Given the description of an element on the screen output the (x, y) to click on. 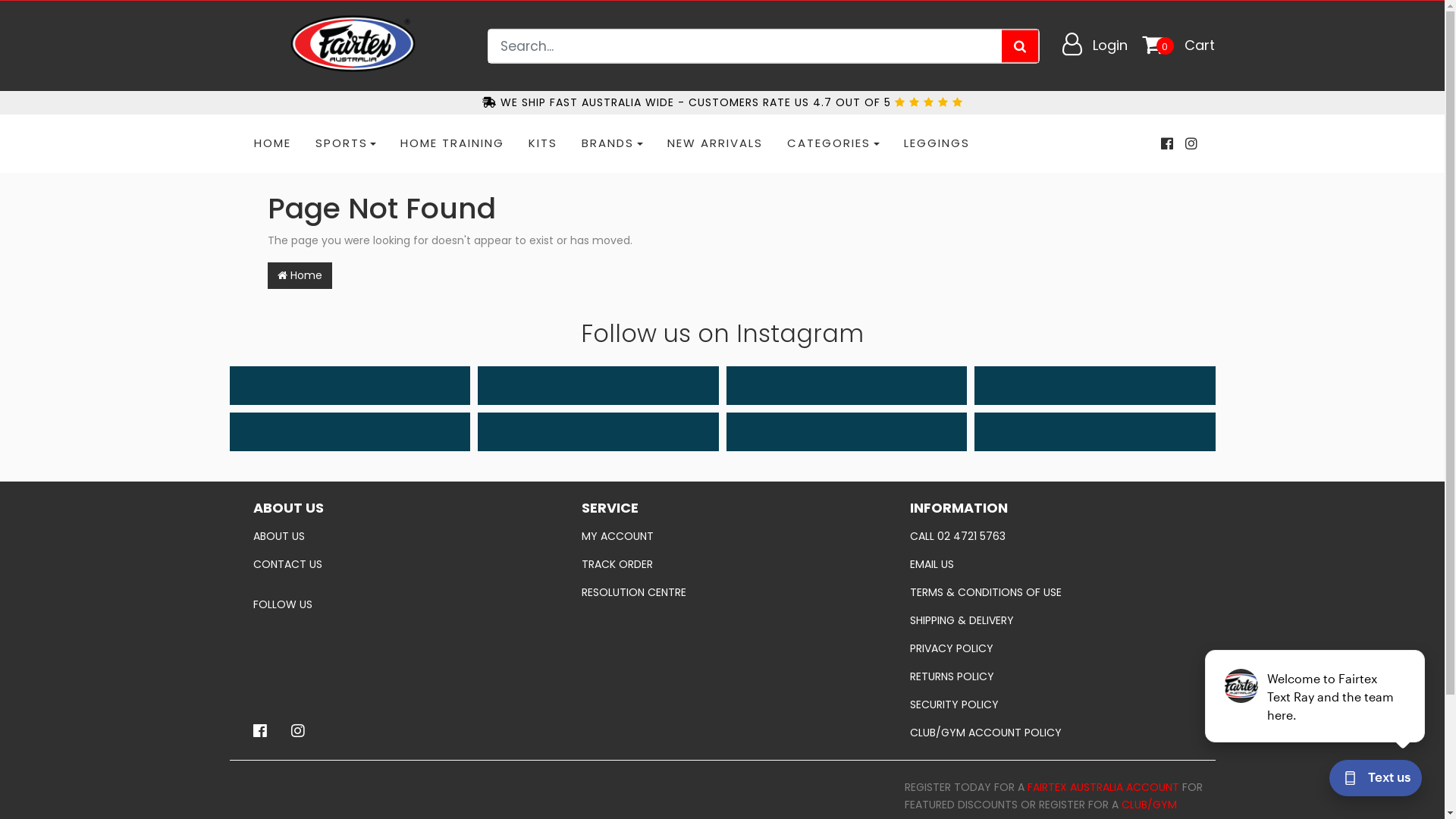
SPORTS Element type: text (346, 143)
podium webchat widget prompt Element type: hover (1315, 696)
TRACK ORDER Element type: text (722, 564)
Fairtex Australia on Instagram Element type: hover (297, 730)
HOME Element type: text (271, 143)
MY ACCOUNT Element type: text (722, 535)
RETURNS POLICY Element type: text (1050, 676)
Search Element type: text (1019, 45)
CATEGORIES Element type: text (833, 143)
KITS Element type: text (542, 143)
NEW ARRIVALS Element type: text (715, 143)
Fairtex Australia on Facebook Element type: hover (260, 730)
TERMS & CONDITIONS OF USE Element type: text (1050, 591)
Fairtex Australia on Facebook Element type: hover (1166, 143)
SHIPPING & DELIVERY Element type: text (1050, 620)
CLUB/GYM ACCOUNT POLICY Element type: text (1050, 732)
Home Element type: text (298, 275)
ABOUT US Element type: text (393, 535)
RESOLUTION CENTRE Element type: text (722, 591)
FOLLOW US Element type: text (393, 603)
Login Element type: text (1109, 44)
EMAIL US Element type: text (1050, 564)
Fairtex Australia on Instagram Element type: hover (1190, 143)
Cart Element type: text (1199, 44)
CALL 02 4721 5763 Element type: text (1050, 535)
CONTACT US Element type: text (393, 564)
SECURITY POLICY Element type: text (1050, 704)
PRIVACY POLICY Element type: text (1050, 647)
FAIRTEX AUSTRALIA ACCOUNT Element type: text (1104, 786)
HOME TRAINING Element type: text (452, 143)
BRANDS Element type: text (612, 143)
0 Element type: text (1164, 45)
LEGGINGS Element type: text (936, 143)
